Given the description of an element on the screen output the (x, y) to click on. 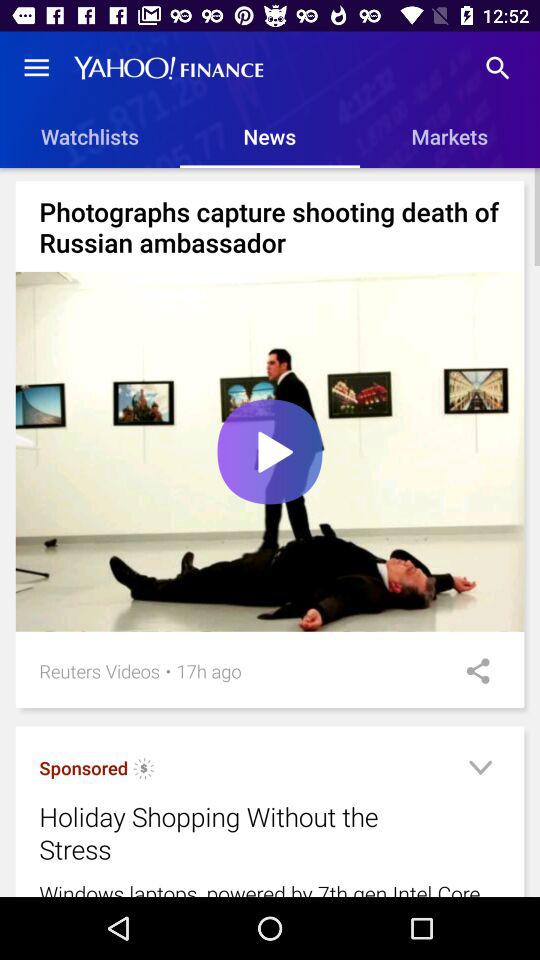
launch the icon to the right of the reuters videos (168, 670)
